Given the description of an element on the screen output the (x, y) to click on. 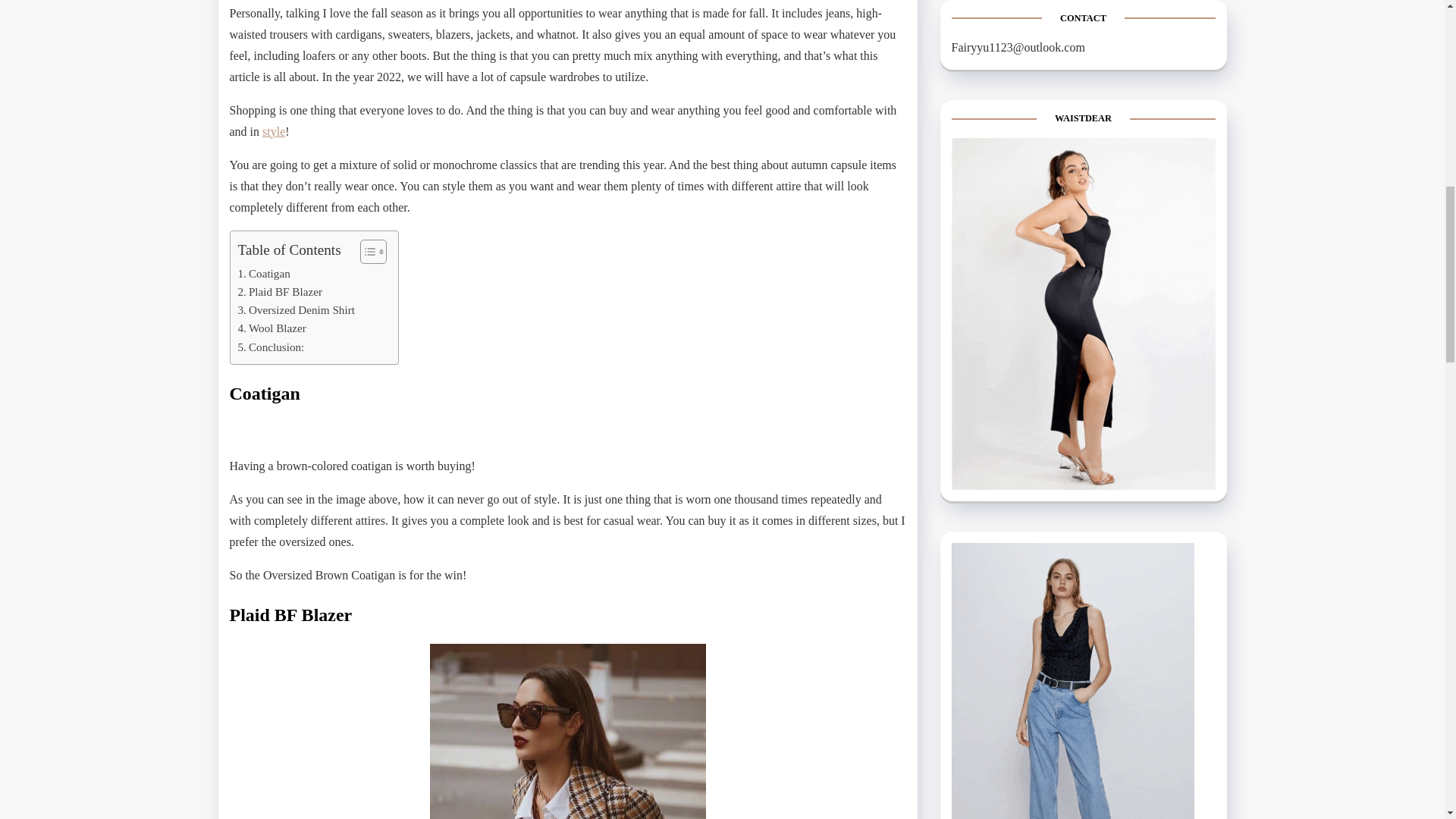
Coatigan (263, 272)
Plaid BF Blazer (279, 291)
Conclusion: (271, 347)
Oversized Denim Shirt (296, 310)
Conclusion: (271, 347)
Wool Blazer  (271, 328)
style (273, 130)
Oversized Denim Shirt (296, 310)
Coatigan (263, 272)
Wool Blazer (271, 328)
Plaid BF Blazer (279, 291)
